Given the description of an element on the screen output the (x, y) to click on. 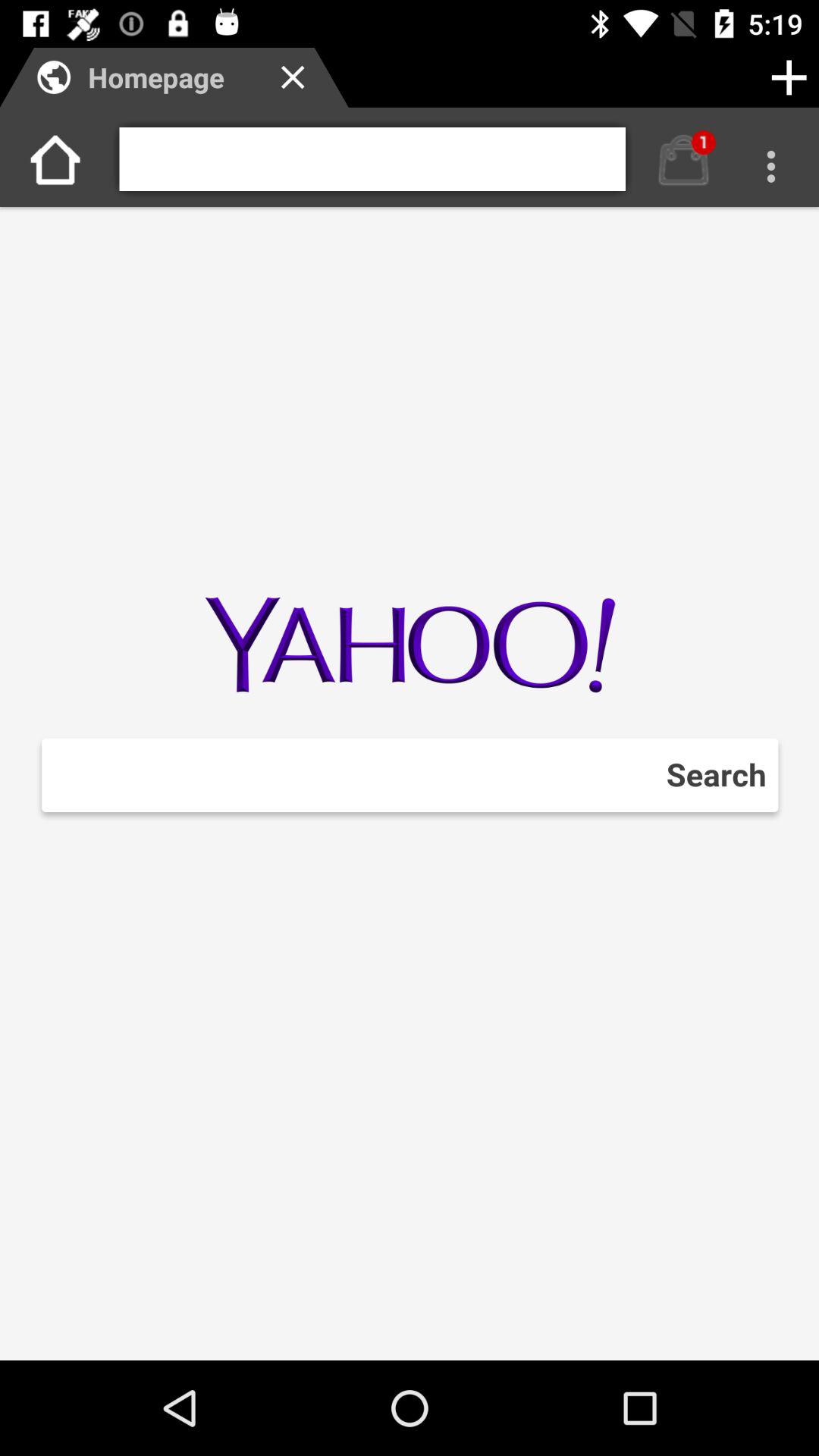
add page (789, 77)
